Given the description of an element on the screen output the (x, y) to click on. 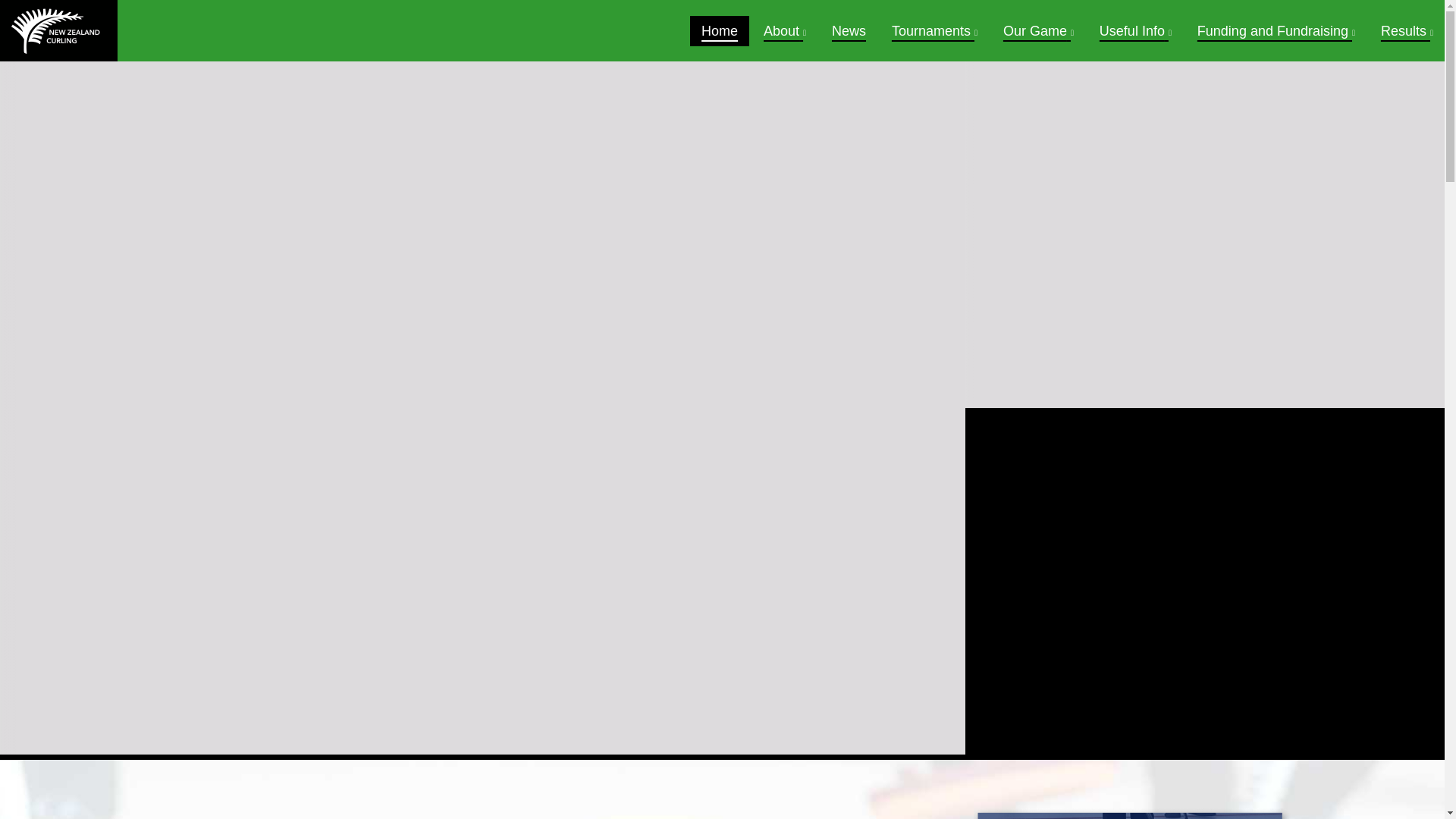
Home (719, 30)
Tournaments (934, 30)
About (784, 30)
News (849, 30)
Useful Info (1134, 30)
Funding and Fundraising (1276, 30)
Our Game (1037, 30)
